Given the description of an element on the screen output the (x, y) to click on. 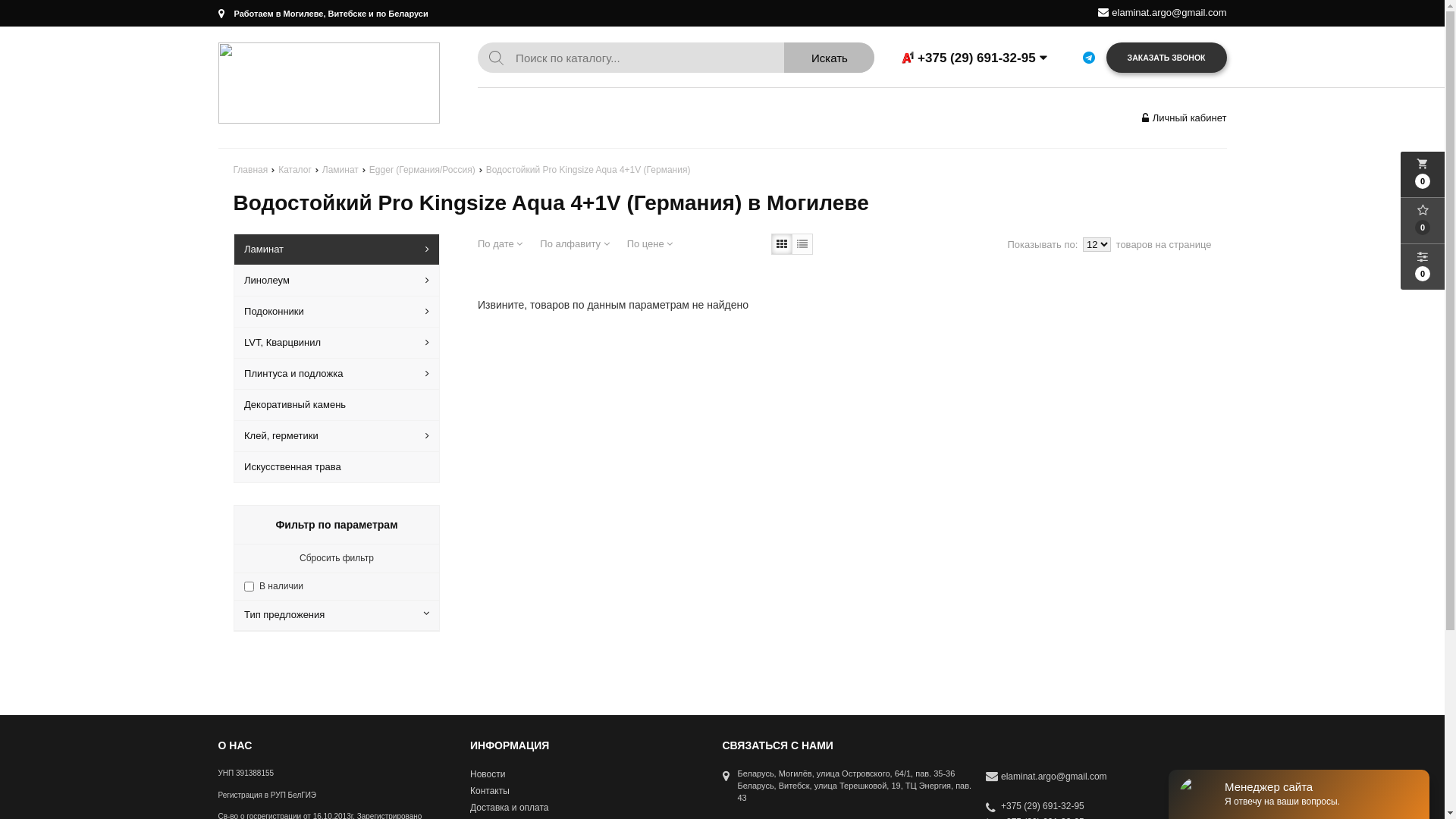
0 Element type: text (1422, 266)
+375 (29) 691-32-95 Element type: text (999, 57)
+375 (29) 691-32-95 Element type: text (1034, 806)
local_grocery_store
0 Element type: text (1422, 174)
0 Element type: text (1422, 220)
elaminat.argo@gmail.com Element type: text (1168, 12)
elaminat.argo@gmail.com Element type: text (1054, 776)
